Given the description of an element on the screen output the (x, y) to click on. 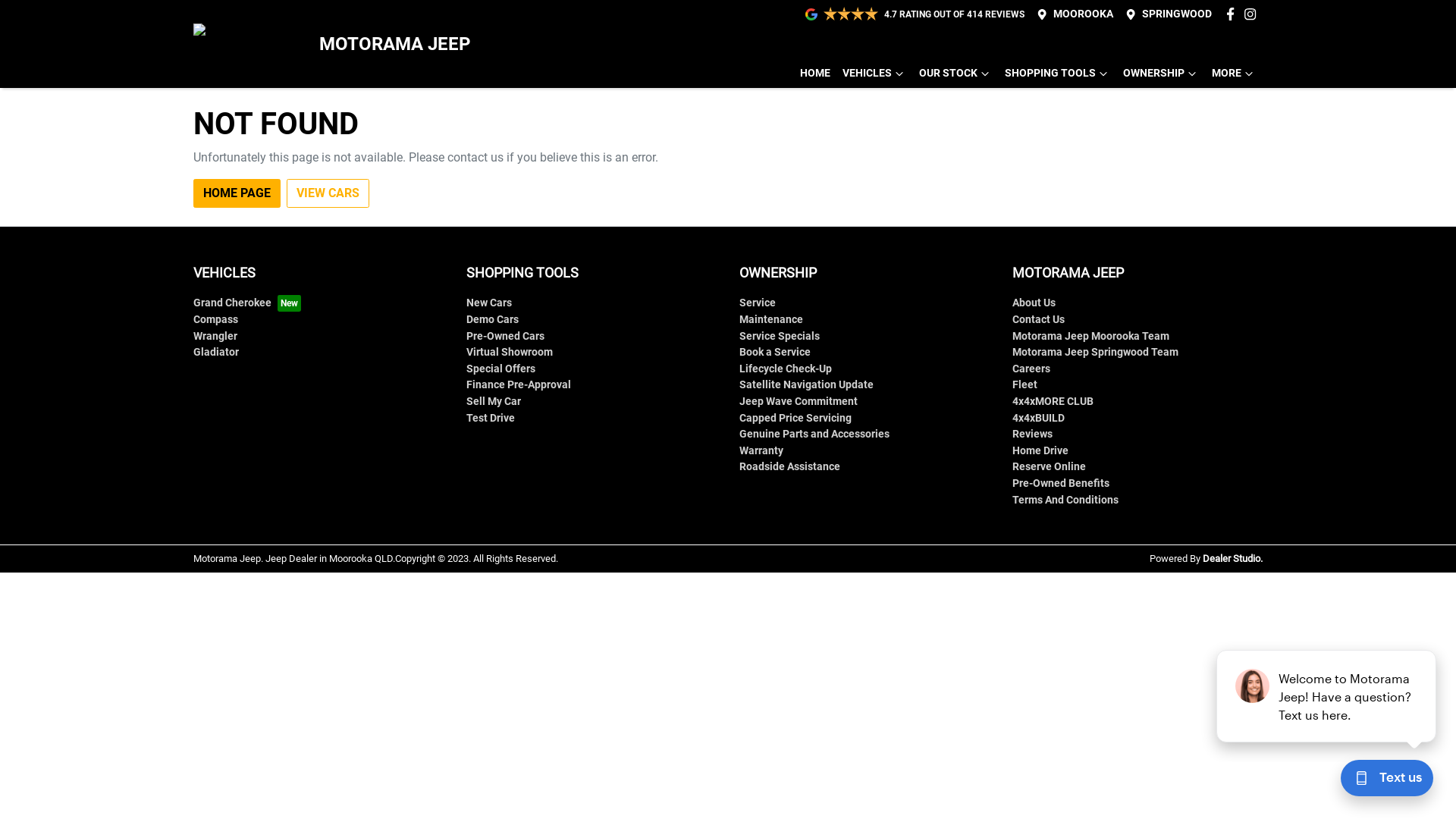
Gladiator Element type: text (215, 351)
4x4xBUILD Element type: text (1038, 417)
Motorama Jeep Moorooka Team Element type: text (1090, 335)
MOOROOKA Element type: text (1083, 13)
Dealer Studio. Element type: text (1232, 558)
OWNERSHIP Element type: text (1161, 73)
Terms And Conditions Element type: text (1065, 499)
Virtual Showroom Element type: text (509, 351)
Grand Cherokee Element type: text (247, 302)
MORE Element type: text (1233, 73)
Maintenance Element type: text (771, 319)
Compass Element type: text (215, 319)
Roadside Assistance Element type: text (789, 466)
SPRINGWOOD Element type: text (1176, 13)
Sell My Car Element type: text (493, 401)
Home Drive Element type: text (1040, 450)
Service Element type: text (757, 302)
Warranty Element type: text (761, 450)
Fleet Element type: text (1024, 384)
SHOPPING TOOLS Element type: text (1057, 73)
Service Specials Element type: text (779, 335)
Motorama Jeep Springwood Team Element type: text (1095, 351)
About Us Element type: text (1033, 302)
OUR STOCK Element type: text (955, 73)
4x4xMORE CLUB Element type: text (1052, 401)
VIEW CARS Element type: text (327, 192)
Contact Us Element type: text (1038, 319)
Book a Service Element type: text (774, 351)
Reserve Online Element type: text (1048, 466)
Careers Element type: text (1031, 368)
Special Offers Element type: text (500, 368)
Genuine Parts and Accessories Element type: text (814, 433)
MOTORAMA JEEP Element type: text (331, 43)
Satellite Navigation Update Element type: text (806, 384)
HOME PAGE Element type: text (236, 192)
Pre-Owned Cars Element type: text (505, 335)
Capped Price Servicing Element type: text (795, 417)
Jeep Wave Commitment Element type: text (798, 401)
Finance Pre-Approval Element type: text (518, 384)
HOME Element type: text (814, 73)
Demo Cars Element type: text (492, 319)
Reviews Element type: text (1032, 433)
Lifecycle Check-Up Element type: text (785, 368)
Test Drive Element type: text (490, 417)
VEHICLES Element type: text (874, 73)
New Cars Element type: text (488, 302)
Wrangler Element type: text (215, 335)
Pre-Owned Benefits Element type: text (1060, 482)
